Given the description of an element on the screen output the (x, y) to click on. 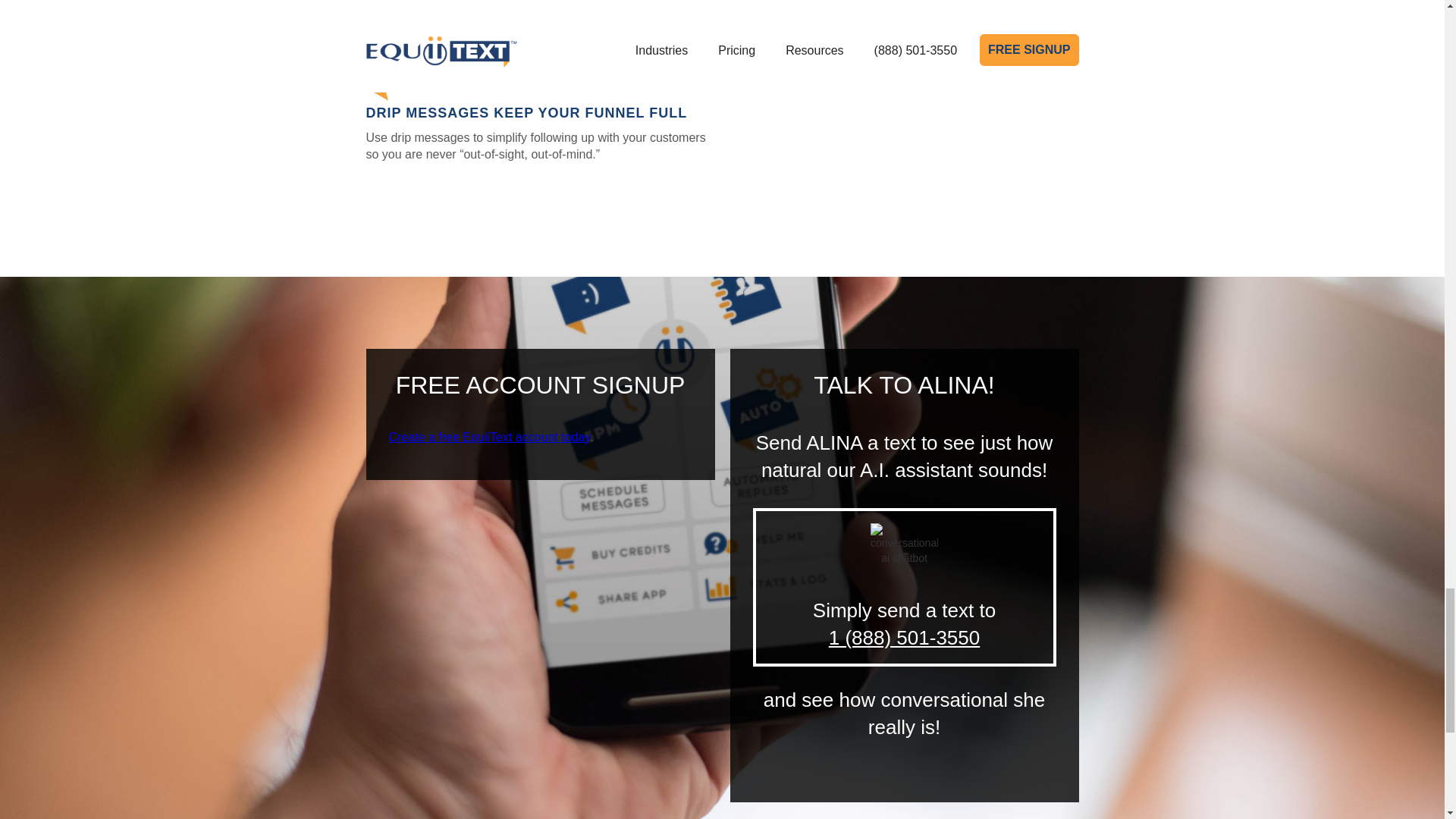
Create a free EquiiText account today (488, 436)
